Given the description of an element on the screen output the (x, y) to click on. 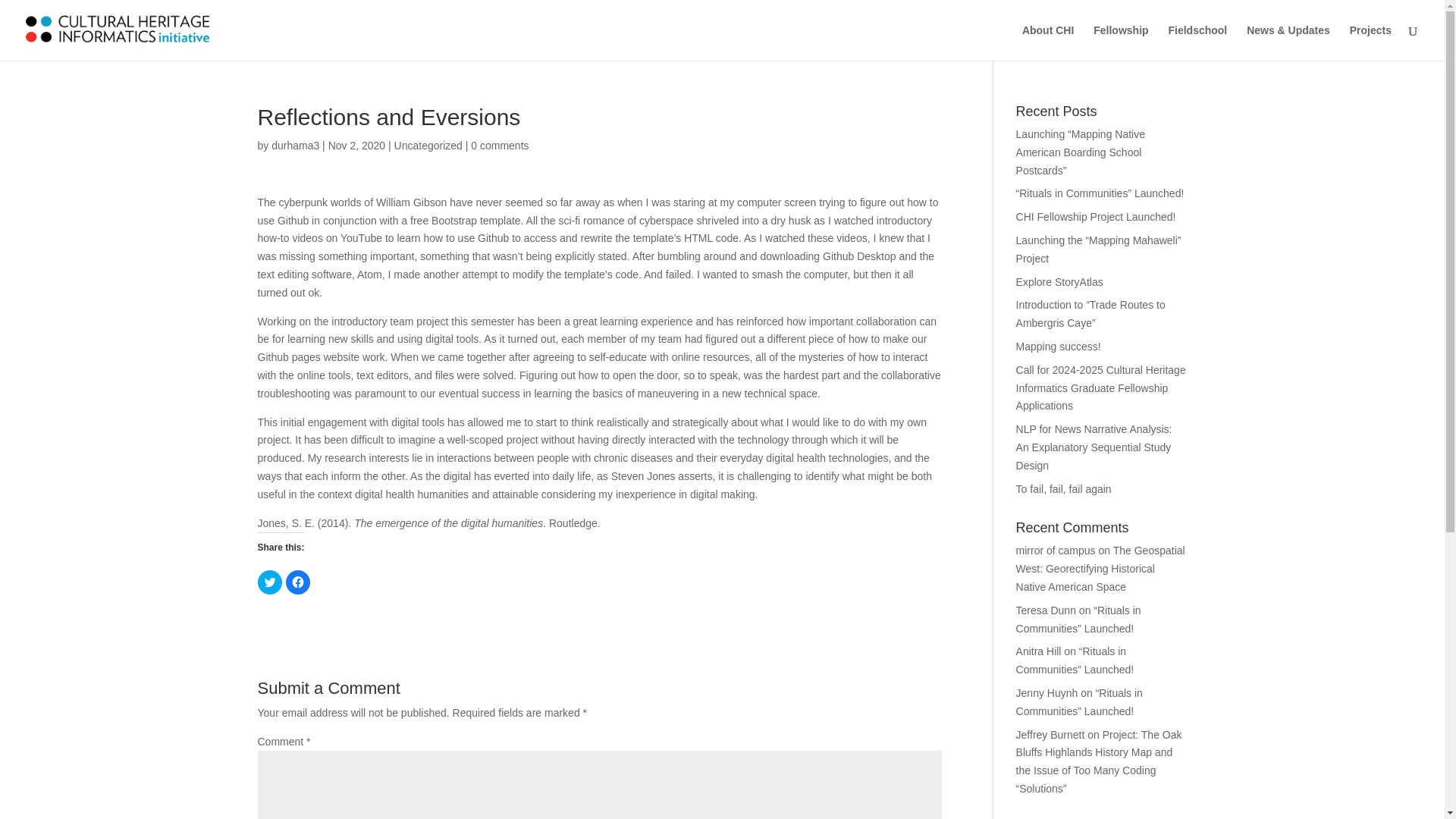
Fieldschool (1197, 42)
mirror of campus (1056, 550)
CHI Fellowship Project Launched! (1096, 216)
Click to share on Twitter (269, 582)
About CHI (1048, 42)
durhama3 (294, 145)
Fellowship (1120, 42)
Mapping success! (1058, 346)
